Given the description of an element on the screen output the (x, y) to click on. 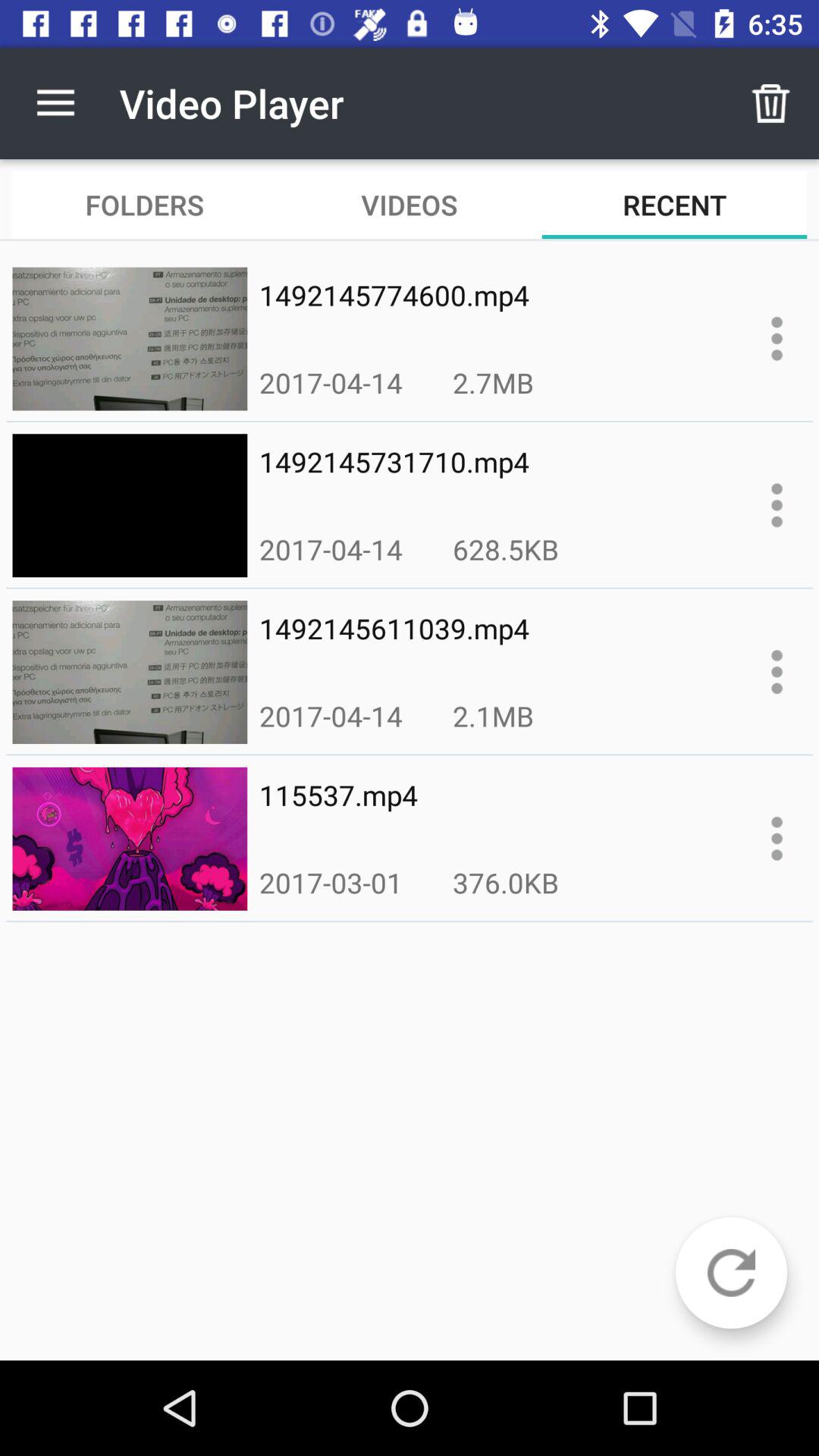
press the item to the left of the video player icon (55, 103)
